Given the description of an element on the screen output the (x, y) to click on. 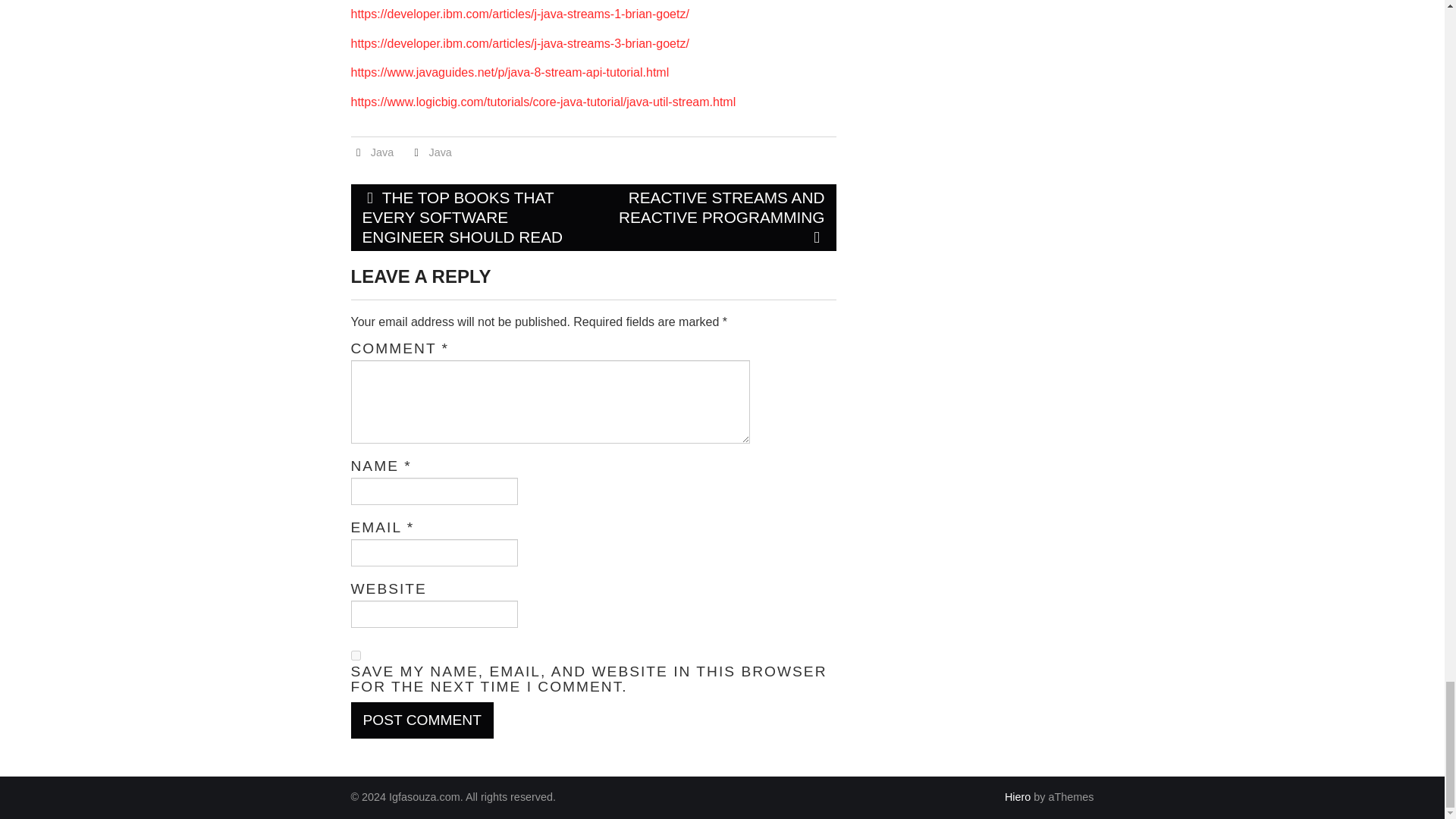
Java (382, 152)
yes (354, 655)
Post Comment (421, 719)
Post Comment (421, 719)
Java (439, 152)
REACTIVE STREAMS AND REACTIVE PROGRAMMING (713, 217)
THE TOP BOOKS THAT EVERY SOFTWARE ENGINEER SHOULD READ (471, 217)
